Given the description of an element on the screen output the (x, y) to click on. 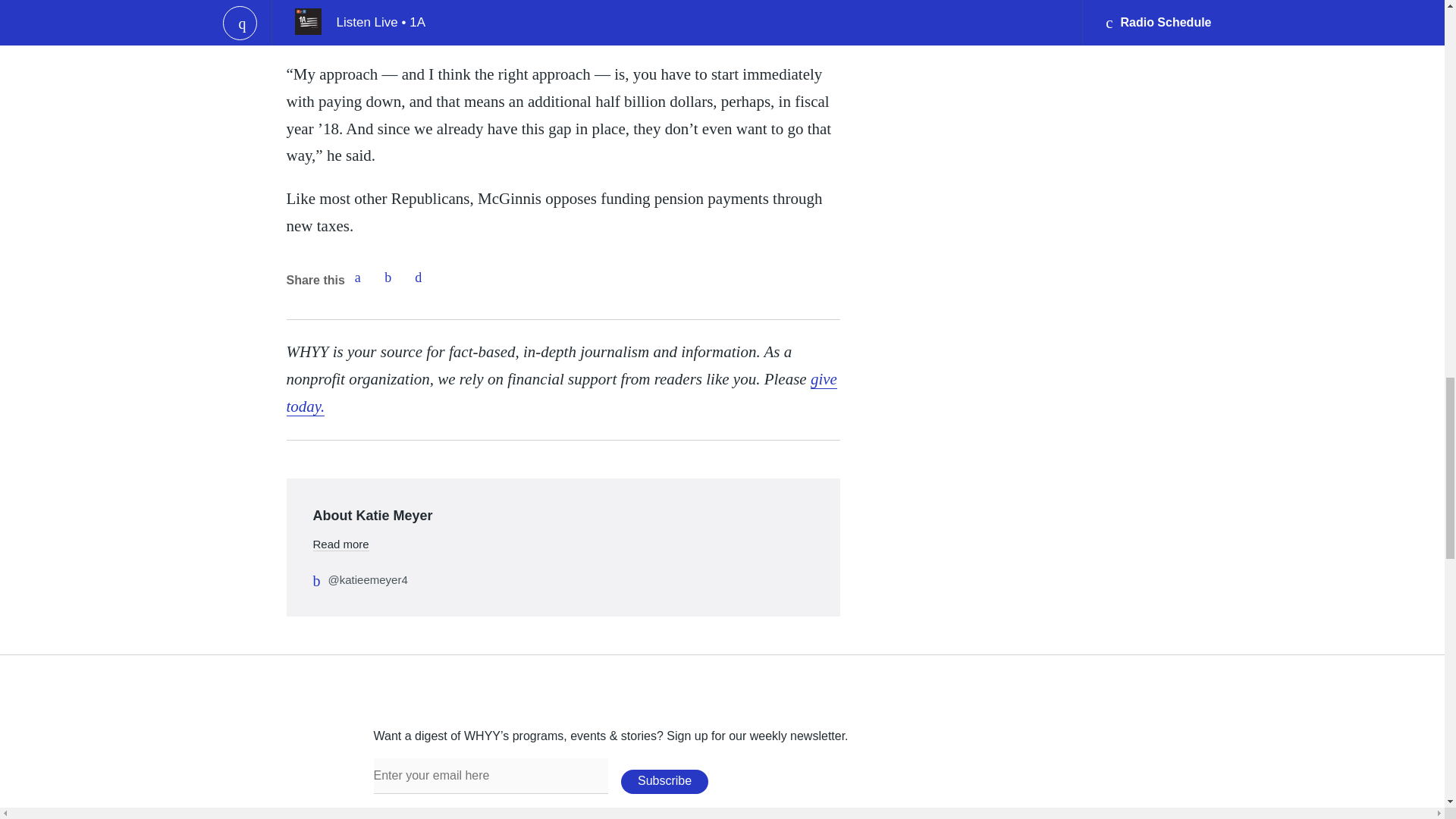
Read More (340, 543)
Facebook (357, 277)
Subscribe (664, 781)
Twitter (387, 277)
Email (418, 277)
